Given the description of an element on the screen output the (x, y) to click on. 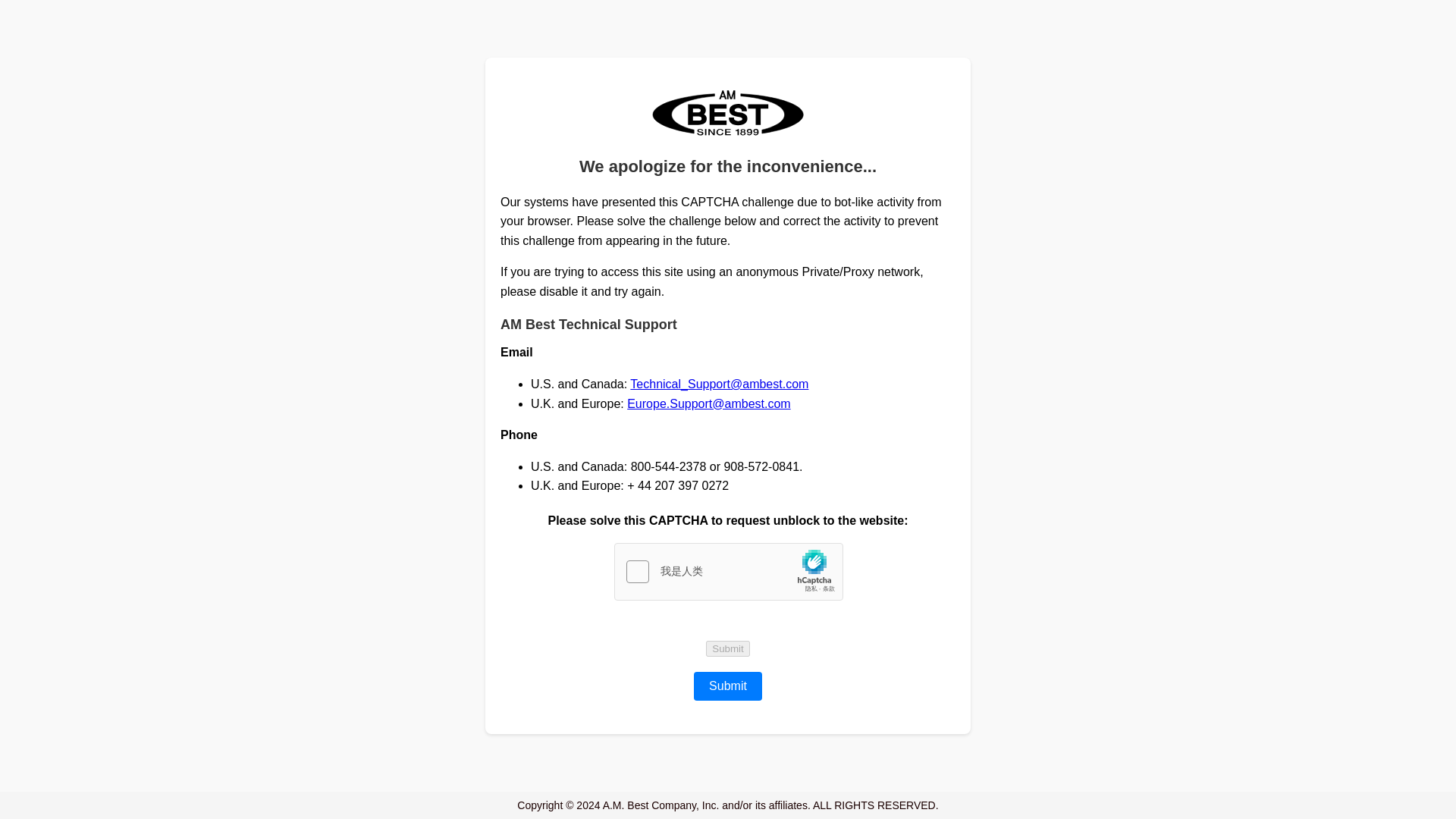
Submit (727, 648)
Submit (727, 686)
Submit (727, 648)
